Given the description of an element on the screen output the (x, y) to click on. 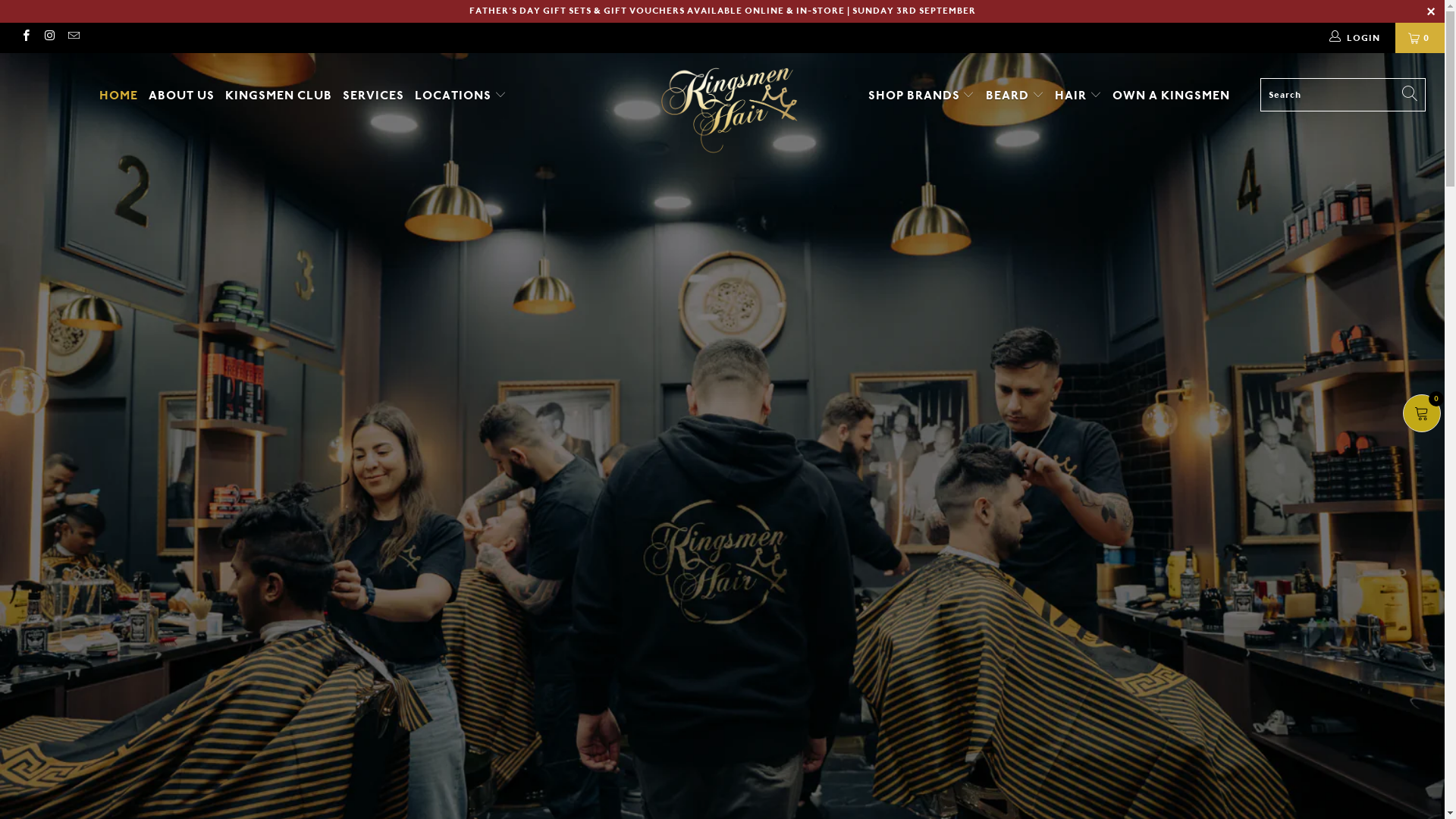
HOME Element type: text (118, 95)
Kingsmen Hair Element type: hover (729, 111)
BEARD Element type: text (1014, 95)
Kingsmen Hair on Facebook Element type: hover (24, 37)
LOGIN Element type: text (1355, 37)
OWN A KINGSMEN Element type: text (1171, 95)
Email Kingsmen Hair Element type: hover (72, 37)
0 Element type: text (1419, 37)
HAIR Element type: text (1077, 95)
SHOP BRANDS Element type: text (921, 95)
KINGSMEN CLUB Element type: text (278, 95)
LOCATIONS Element type: text (460, 95)
ABOUT US Element type: text (181, 95)
0 Element type: text (1421, 413)
Kingsmen Hair on Instagram Element type: hover (48, 37)
SERVICES Element type: text (373, 95)
